Given the description of an element on the screen output the (x, y) to click on. 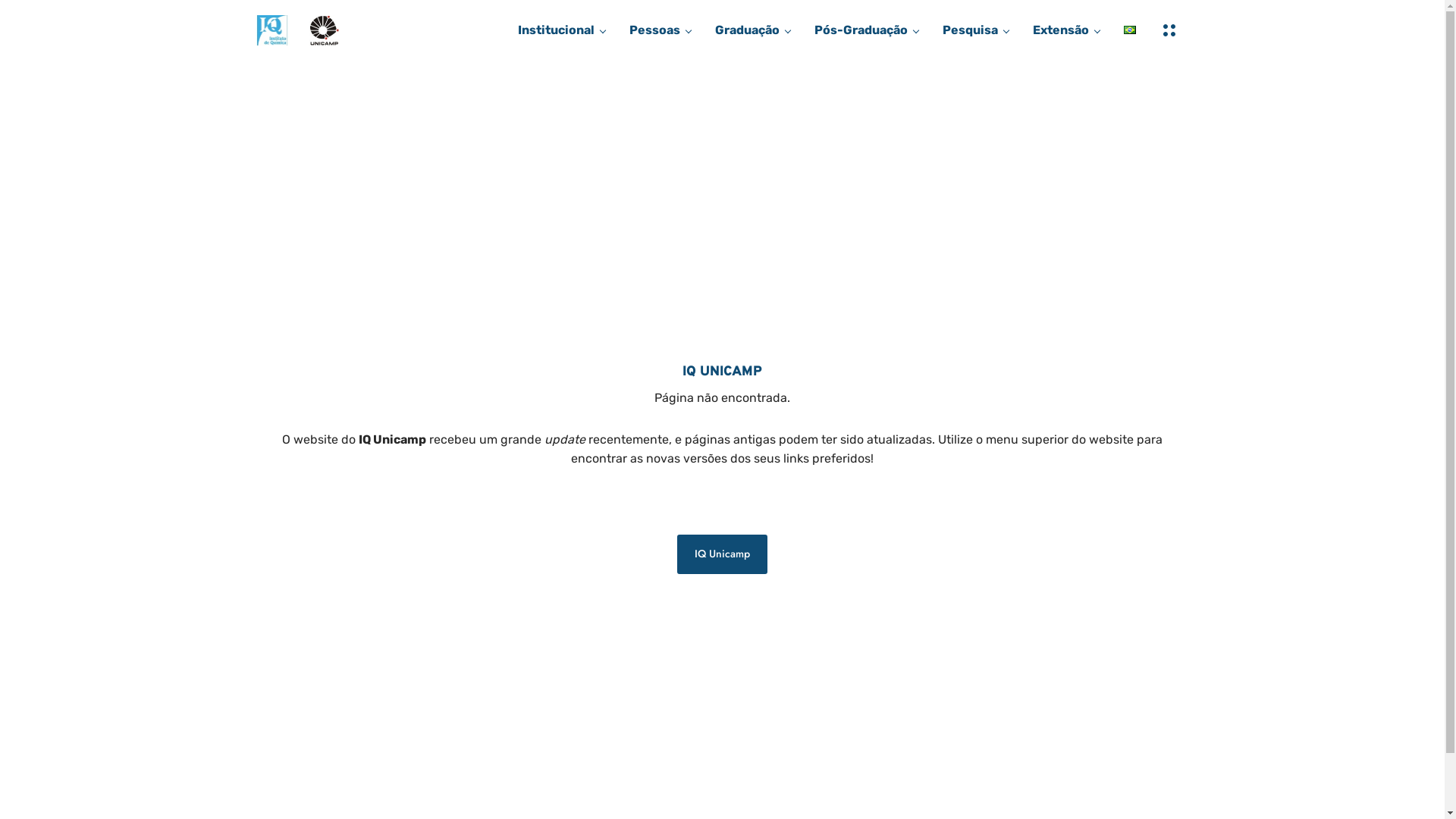
IQ Unicamp Element type: text (722, 554)
Pesquisa Element type: text (969, 29)
Pessoas Element type: text (654, 29)
Institucional Element type: text (555, 29)
